Given the description of an element on the screen output the (x, y) to click on. 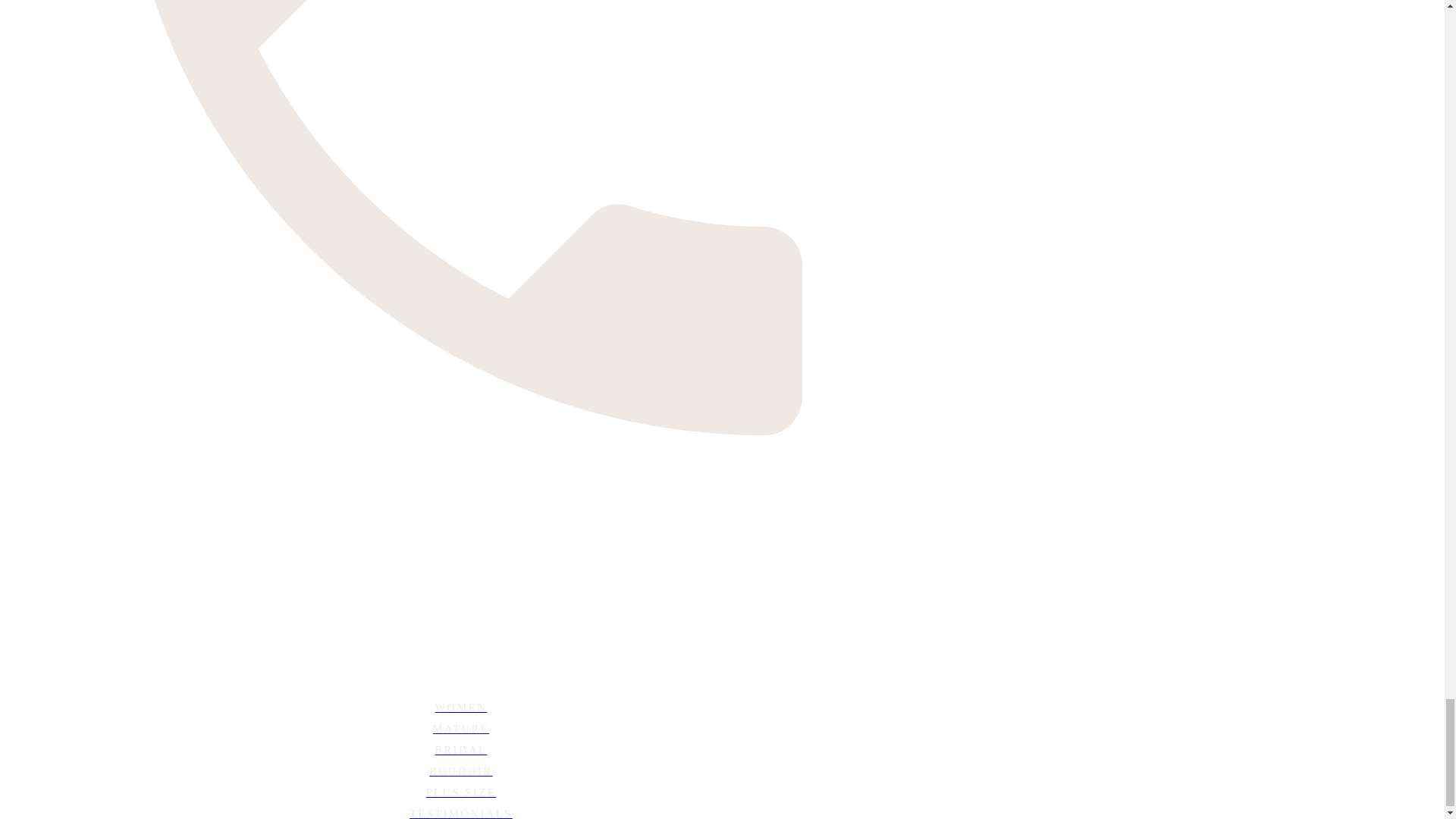
MATURE (460, 729)
PLUS SIZE (460, 792)
BOUDOIR (460, 771)
BRIDAL (460, 750)
WOMEN (460, 708)
